Given the description of an element on the screen output the (x, y) to click on. 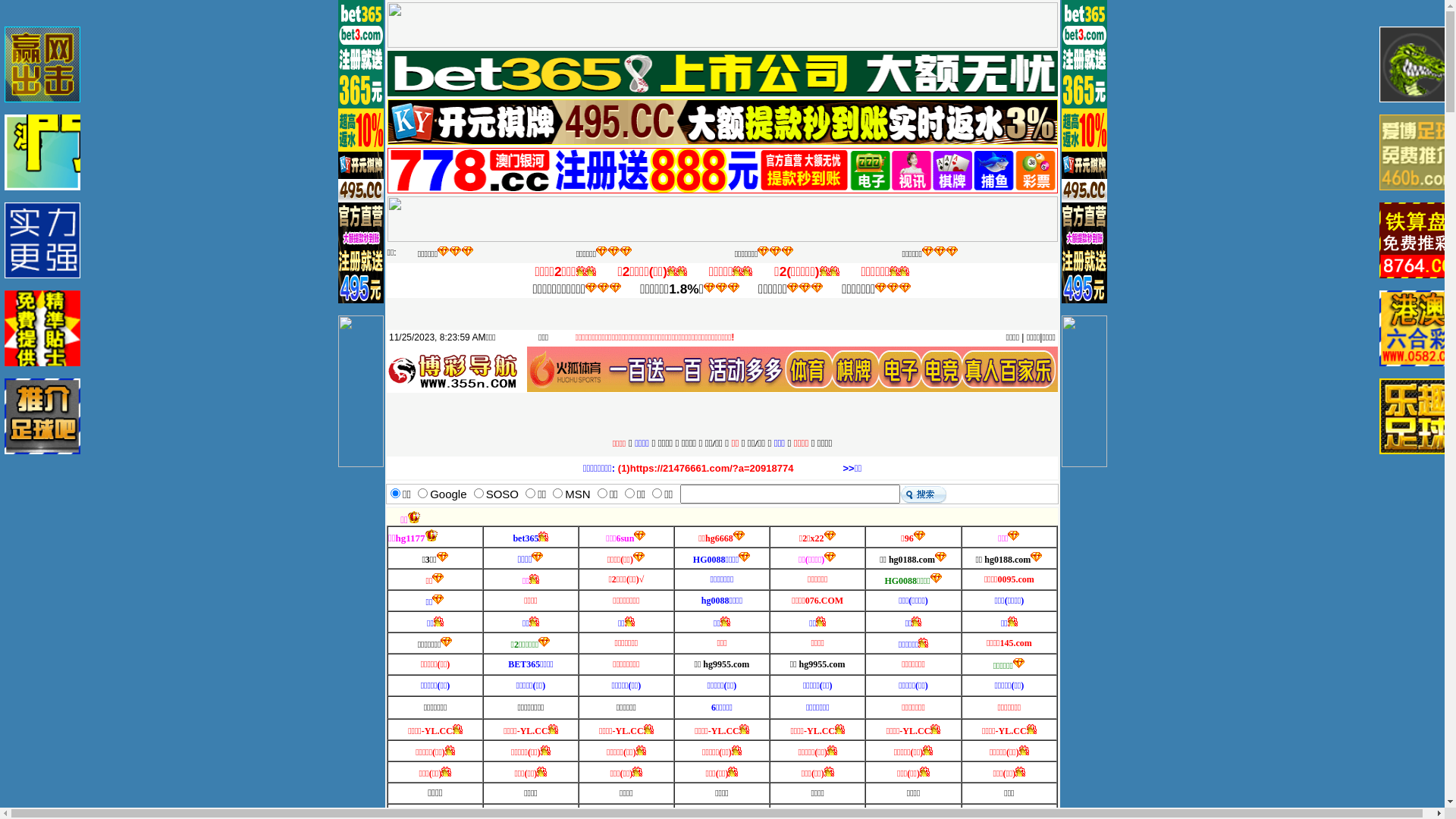
https://21476661.com/?a=20918774 Element type: text (711, 467)
Google Element type: text (447, 492)
SOSO Element type: text (502, 492)
bet365 Element type: text (525, 538)
MSN Element type: text (576, 492)
